Given the description of an element on the screen output the (x, y) to click on. 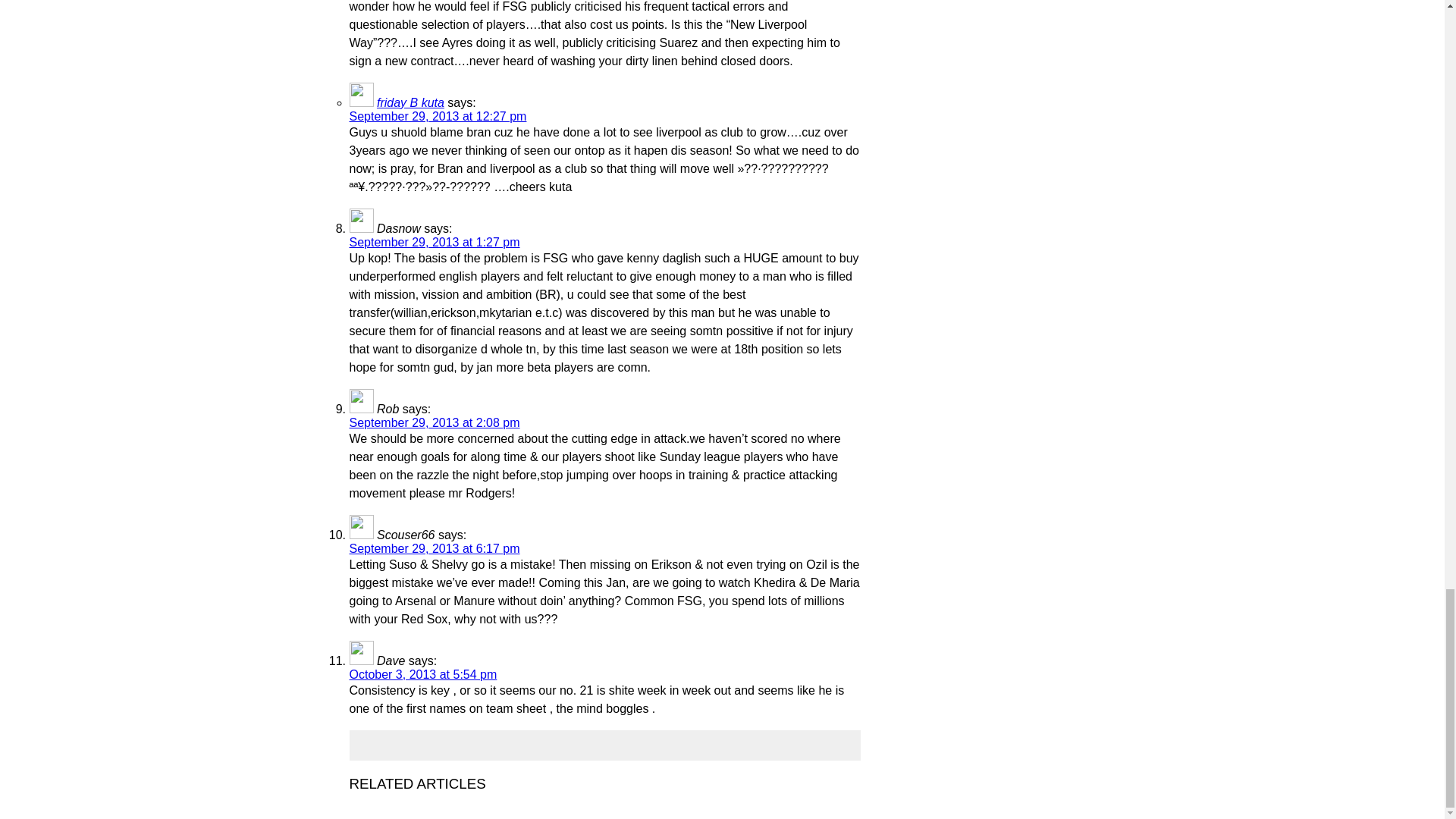
friday B kuta (410, 102)
September 29, 2013 at 2:08 pm (434, 422)
September 29, 2013 at 1:27 pm (434, 241)
September 29, 2013 at 12:27 pm (437, 115)
